Given the description of an element on the screen output the (x, y) to click on. 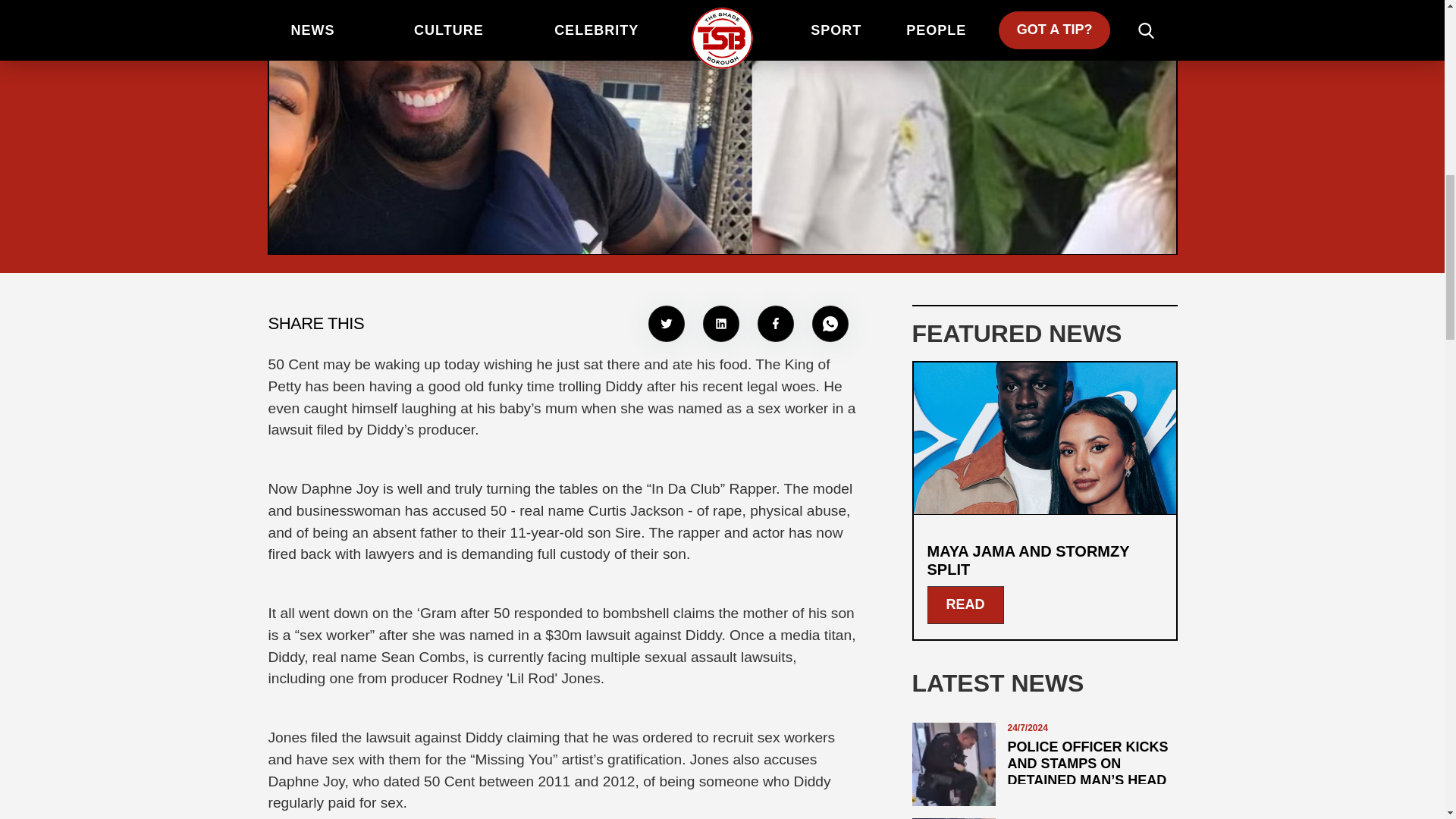
READ (964, 605)
